Given the description of an element on the screen output the (x, y) to click on. 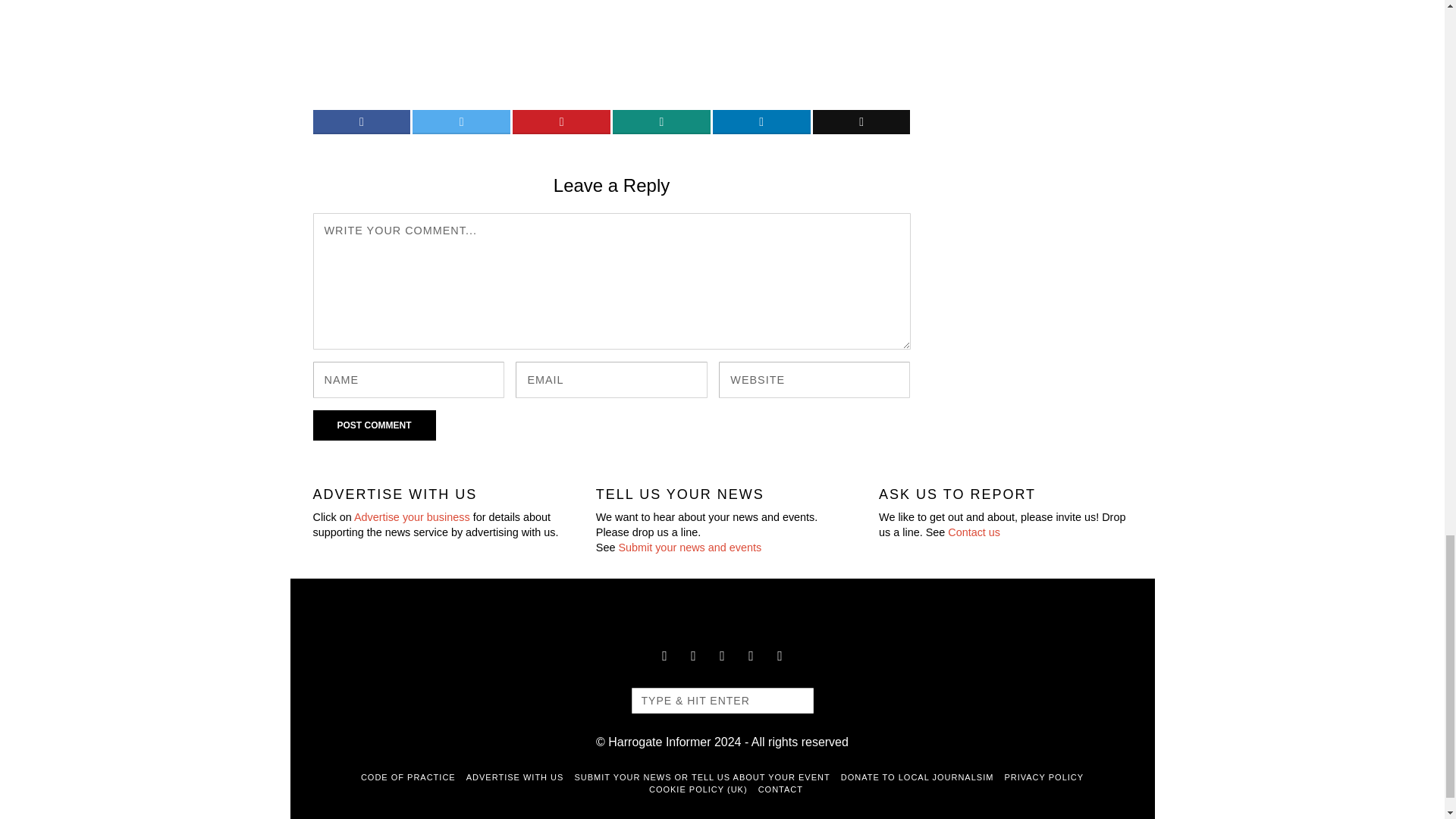
Submit your news and events (689, 547)
Advertise your business (411, 517)
Post Comment (374, 425)
Go (794, 700)
Contact us (973, 532)
Post Comment (374, 425)
